Given the description of an element on the screen output the (x, y) to click on. 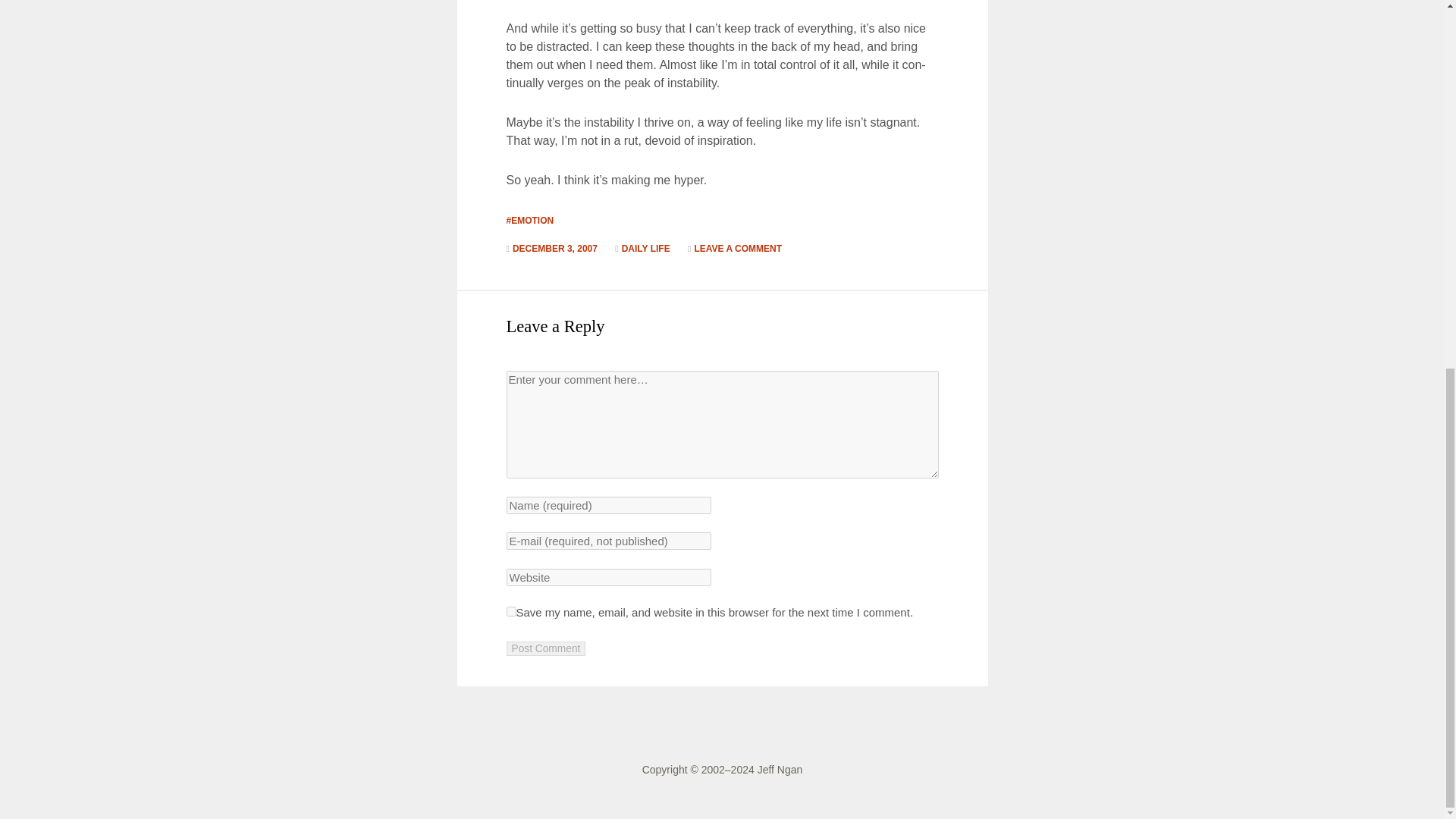
LEAVE A COMMENT (737, 248)
yes (511, 611)
Post Comment (546, 648)
DAILY LIFE (645, 248)
DECEMBER 3, 2007 (554, 248)
Permalink to Hyperactive Euphoria (554, 248)
Post Comment (546, 648)
